Given the description of an element on the screen output the (x, y) to click on. 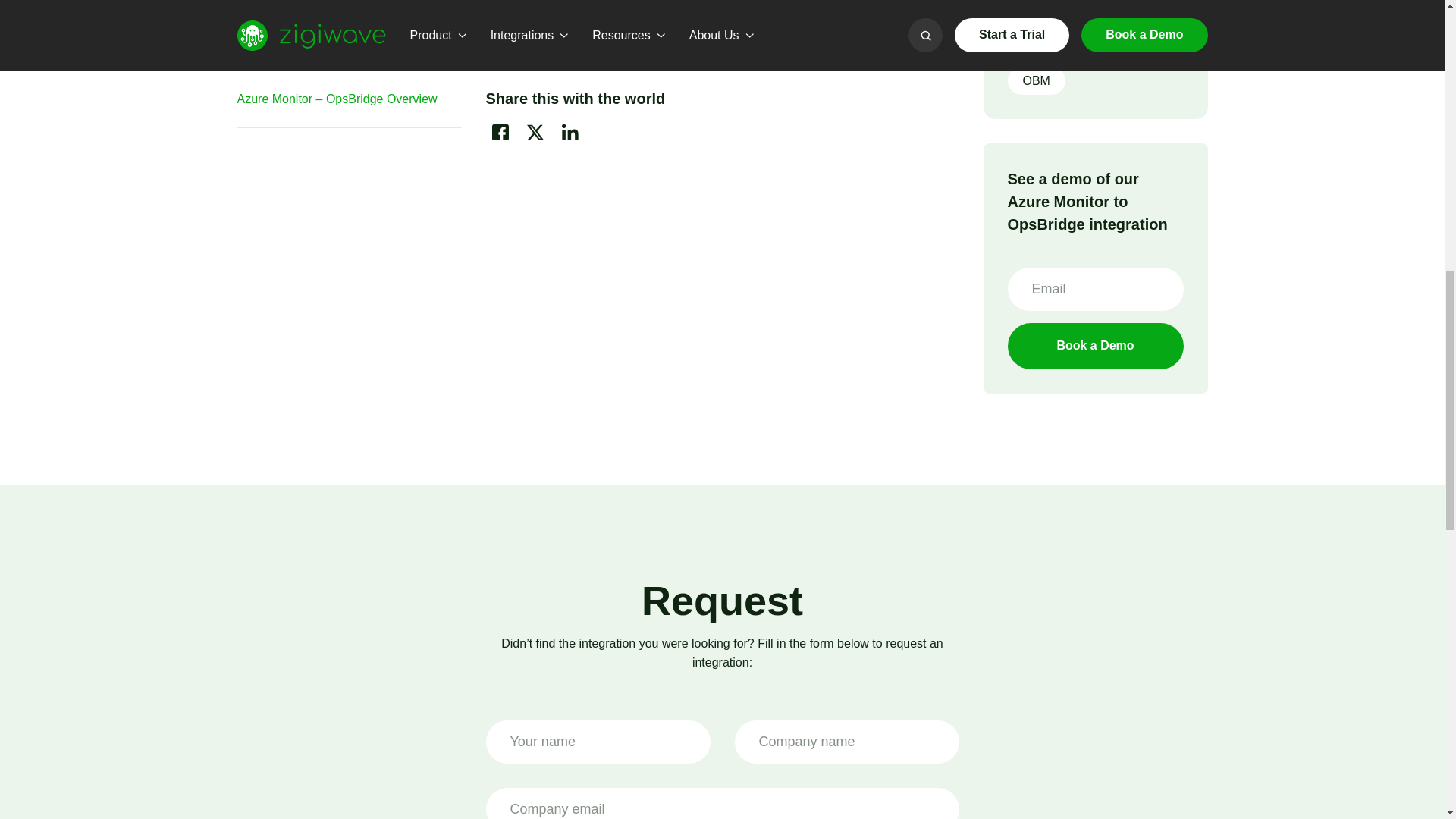
Book a Demo (1094, 345)
